Given the description of an element on the screen output the (x, y) to click on. 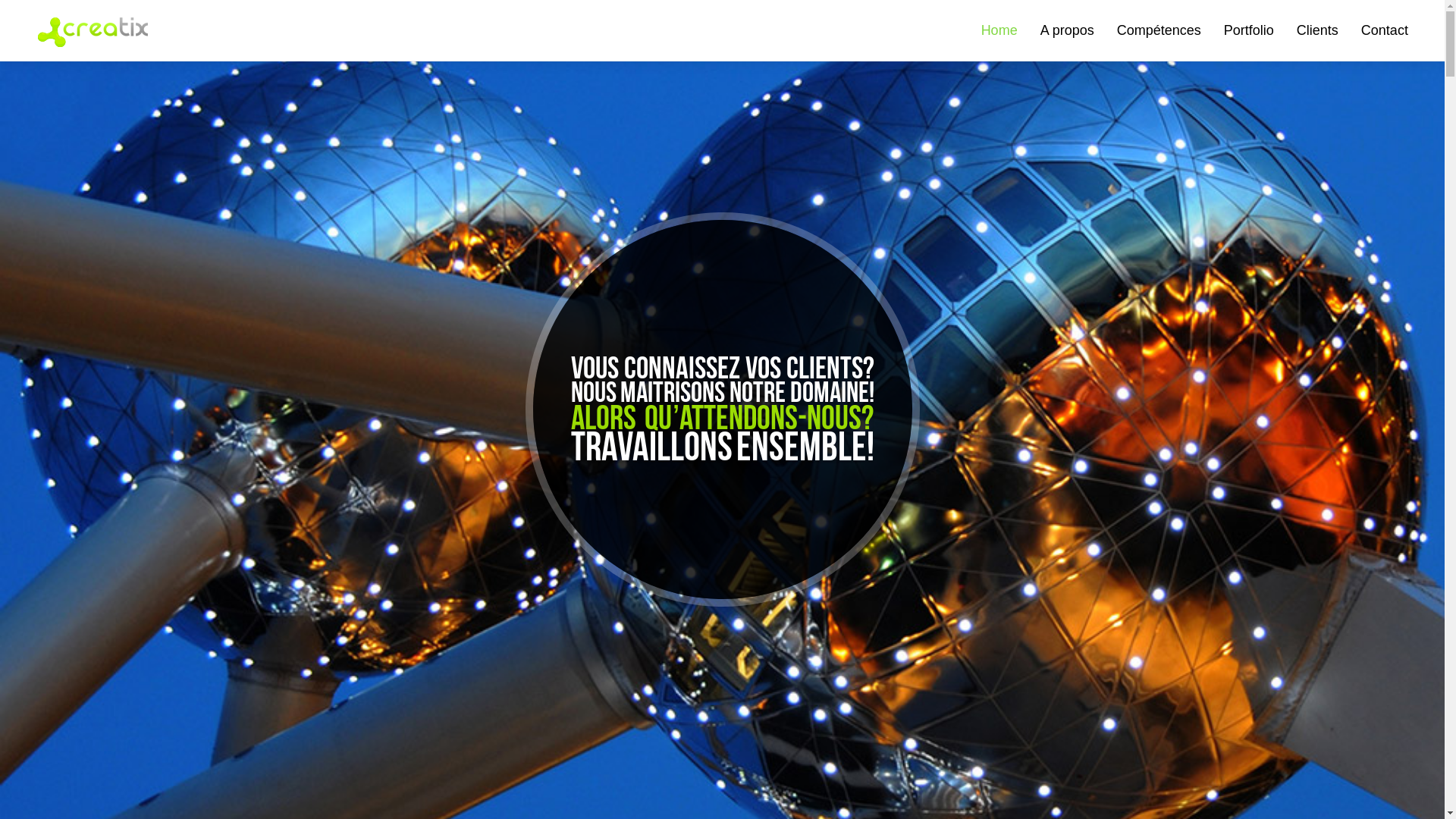
Home Element type: text (999, 29)
Contact Element type: text (1384, 29)
Portfolio Element type: text (1248, 29)
Clients Element type: text (1317, 29)
A propos Element type: text (1067, 29)
